Given the description of an element on the screen output the (x, y) to click on. 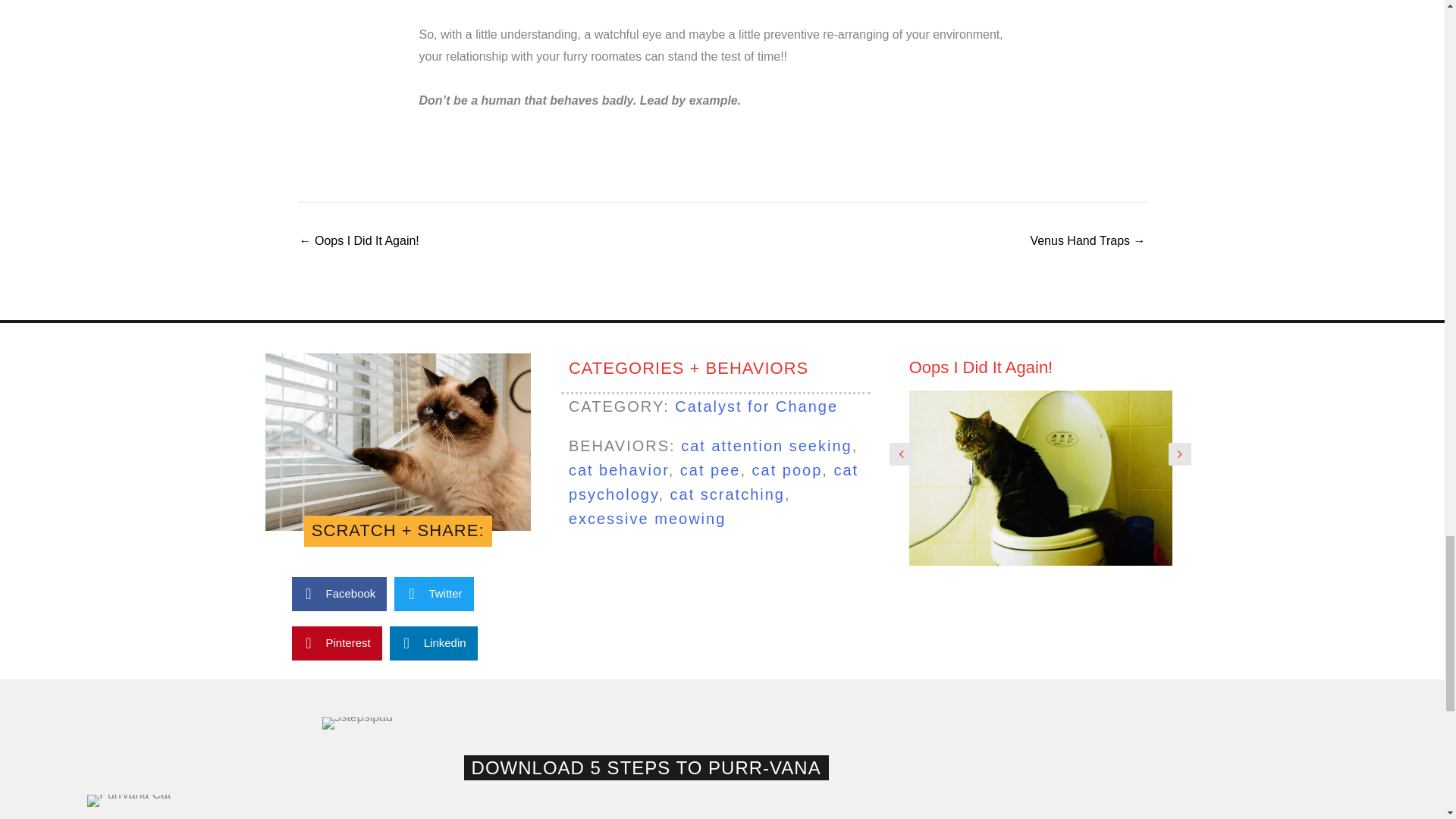
Oops I Did It Again! (980, 366)
cat poop (787, 469)
cat toilet (1040, 478)
people behaving badly (397, 441)
Previous (900, 454)
cat behavior (618, 469)
Oops I Did It Again! (980, 366)
Catalyst for Change (756, 406)
cat scratching (726, 494)
Pinterest (336, 643)
